Given the description of an element on the screen output the (x, y) to click on. 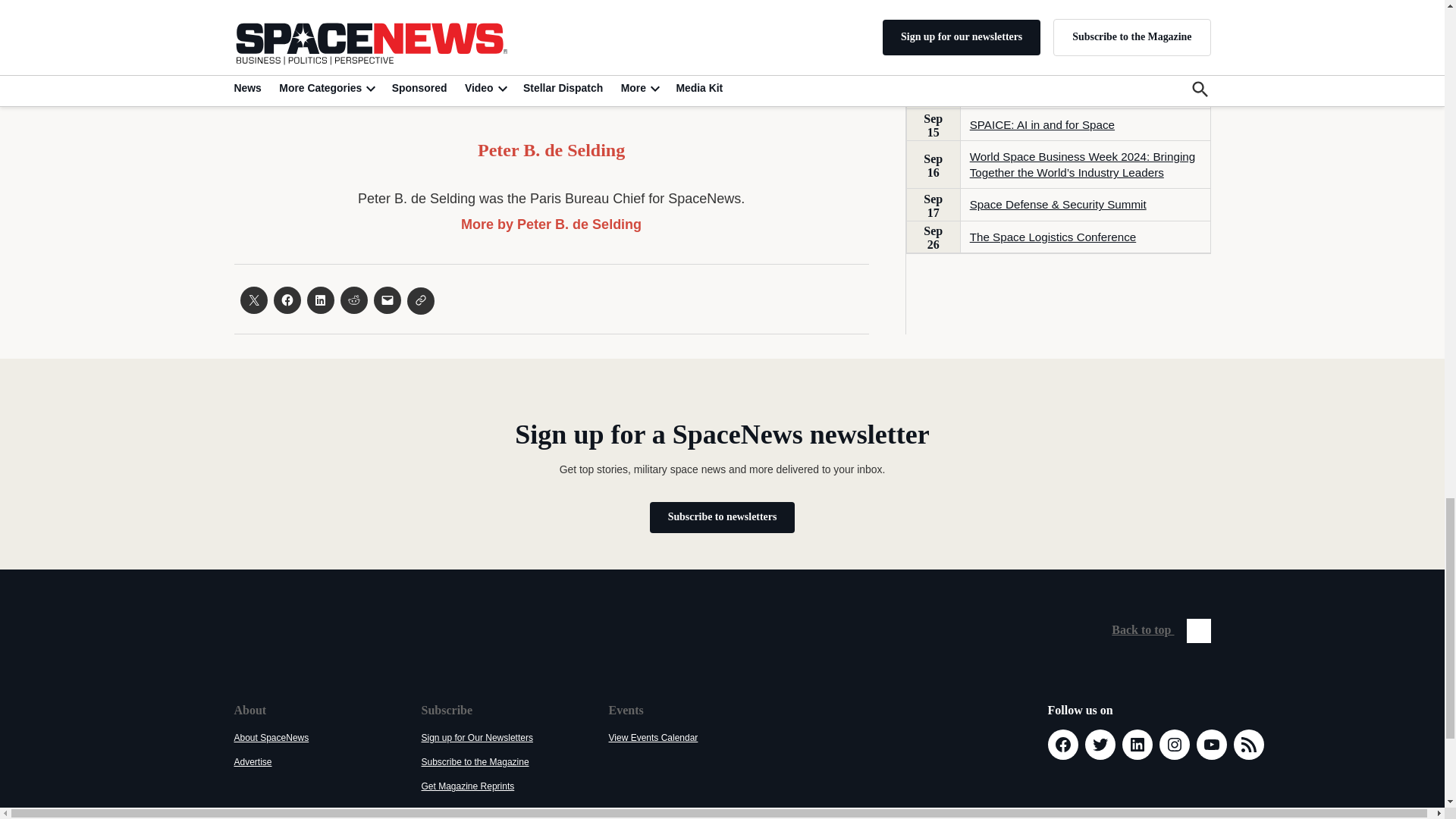
Click to share on LinkedIn (319, 299)
Click to share on X (253, 299)
Click to share on Facebook (286, 299)
Click to share on Reddit (352, 299)
